Given the description of an element on the screen output the (x, y) to click on. 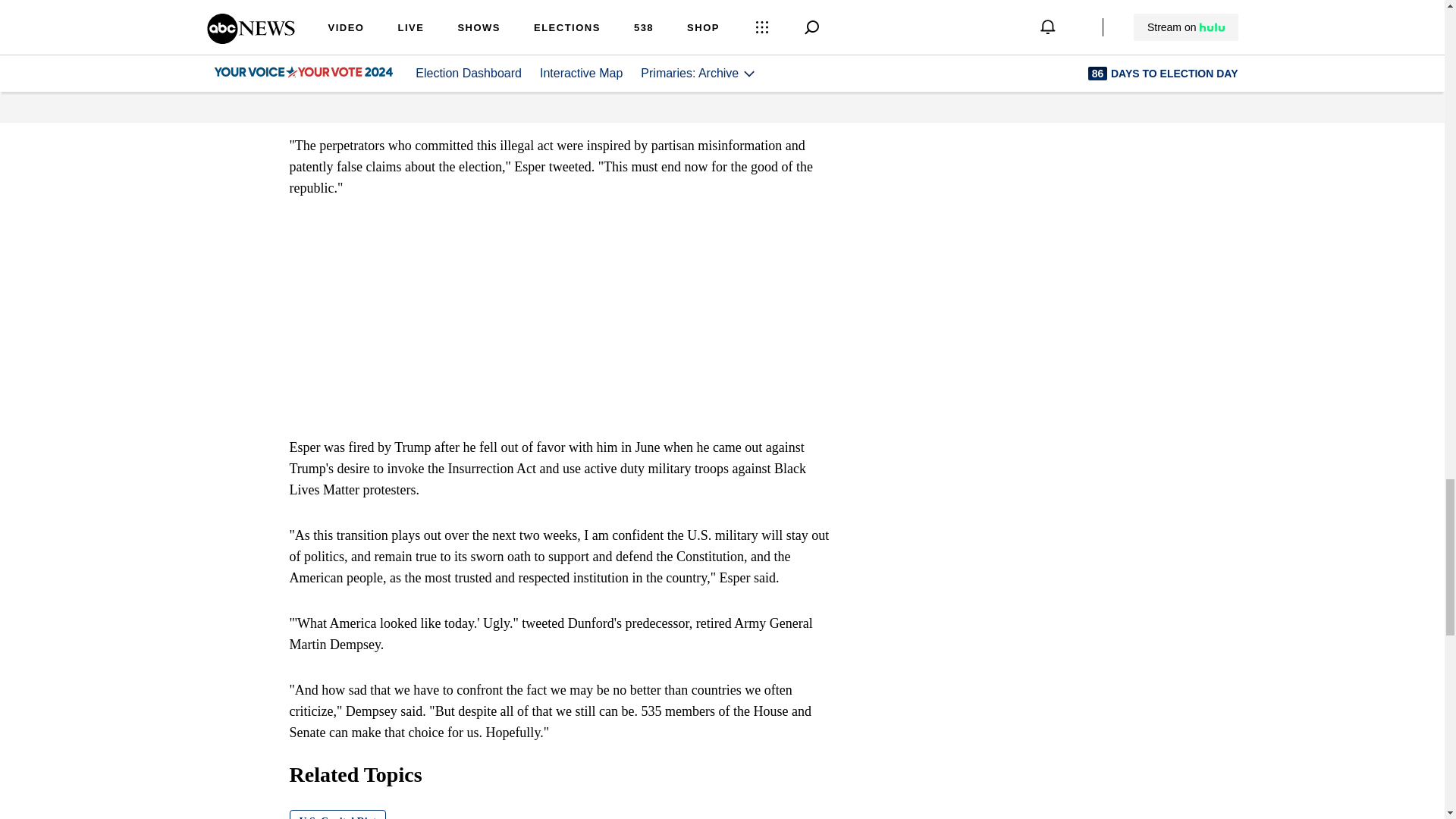
U.S. Capitol Riot (338, 814)
Show more (801, 21)
the Capitol breach (674, 78)
